Given the description of an element on the screen output the (x, y) to click on. 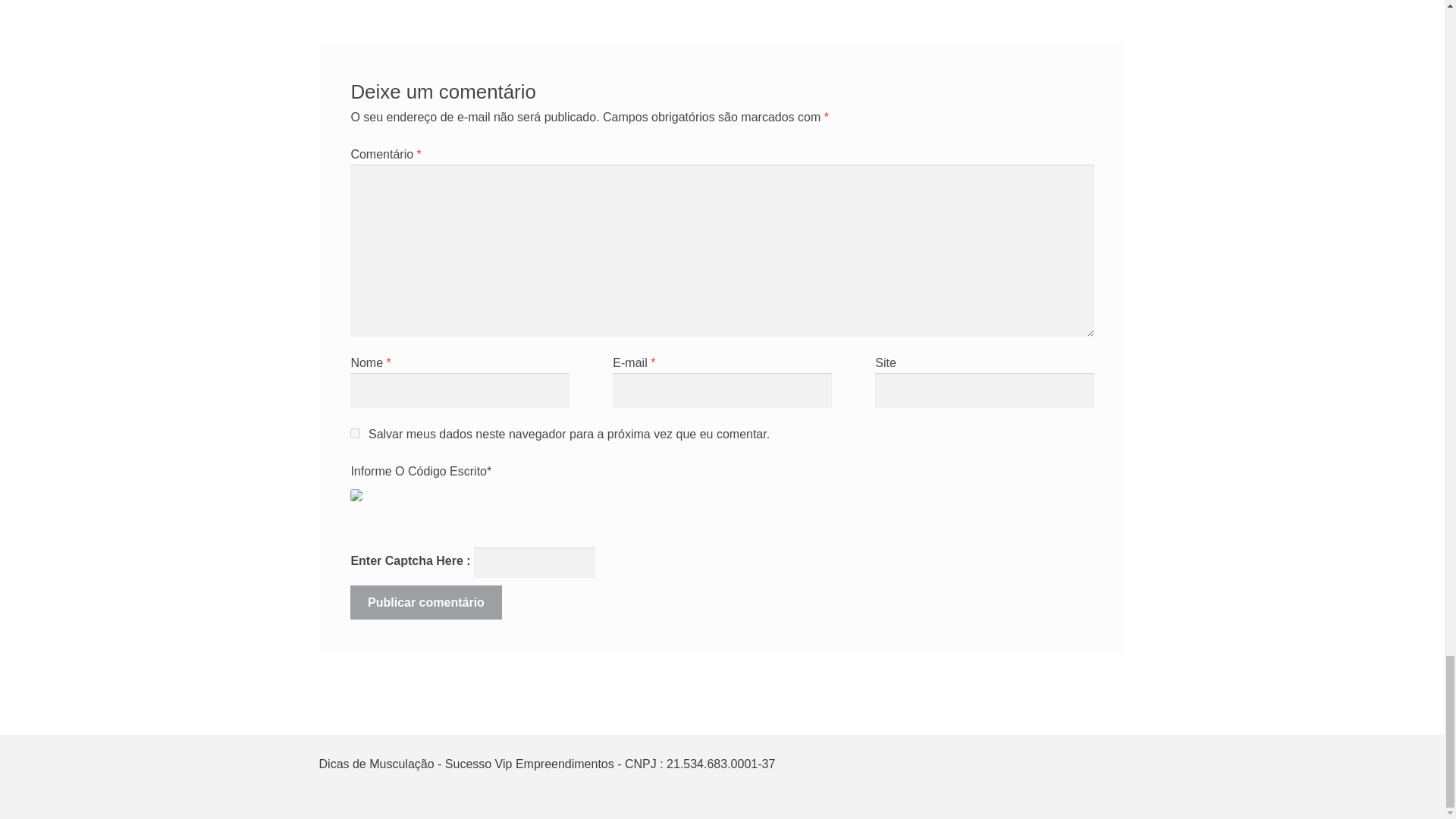
yes (354, 433)
